Given the description of an element on the screen output the (x, y) to click on. 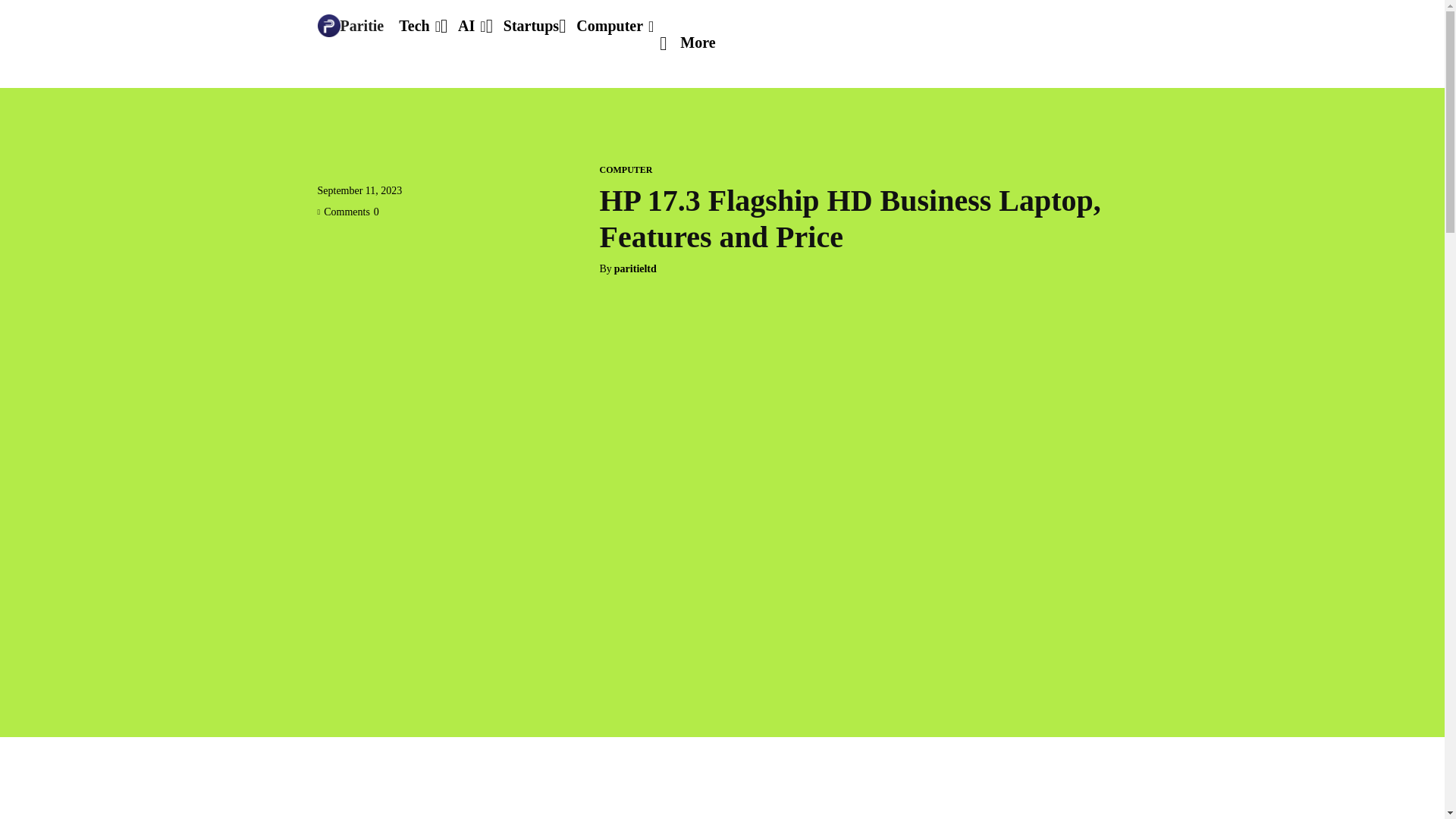
Computer (614, 25)
Startups (531, 25)
Paritie (350, 25)
Tech (419, 25)
